Given the description of an element on the screen output the (x, y) to click on. 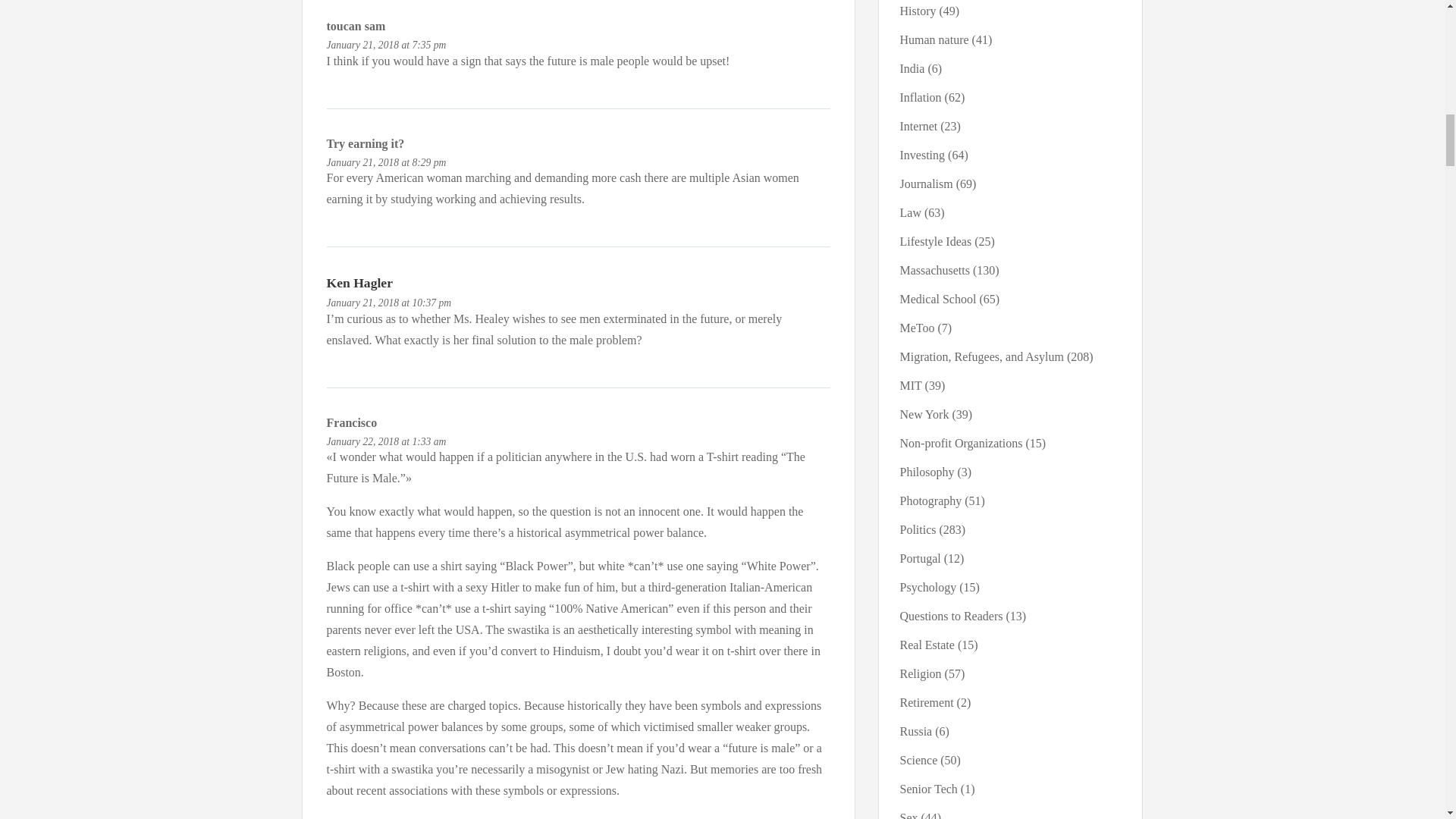
January 21, 2018 at 8:29 pm (385, 162)
January 22, 2018 at 1:33 am (385, 441)
Ken Hagler (358, 282)
January 21, 2018 at 10:37 pm (388, 302)
January 21, 2018 at 7:35 pm (385, 44)
